Given the description of an element on the screen output the (x, y) to click on. 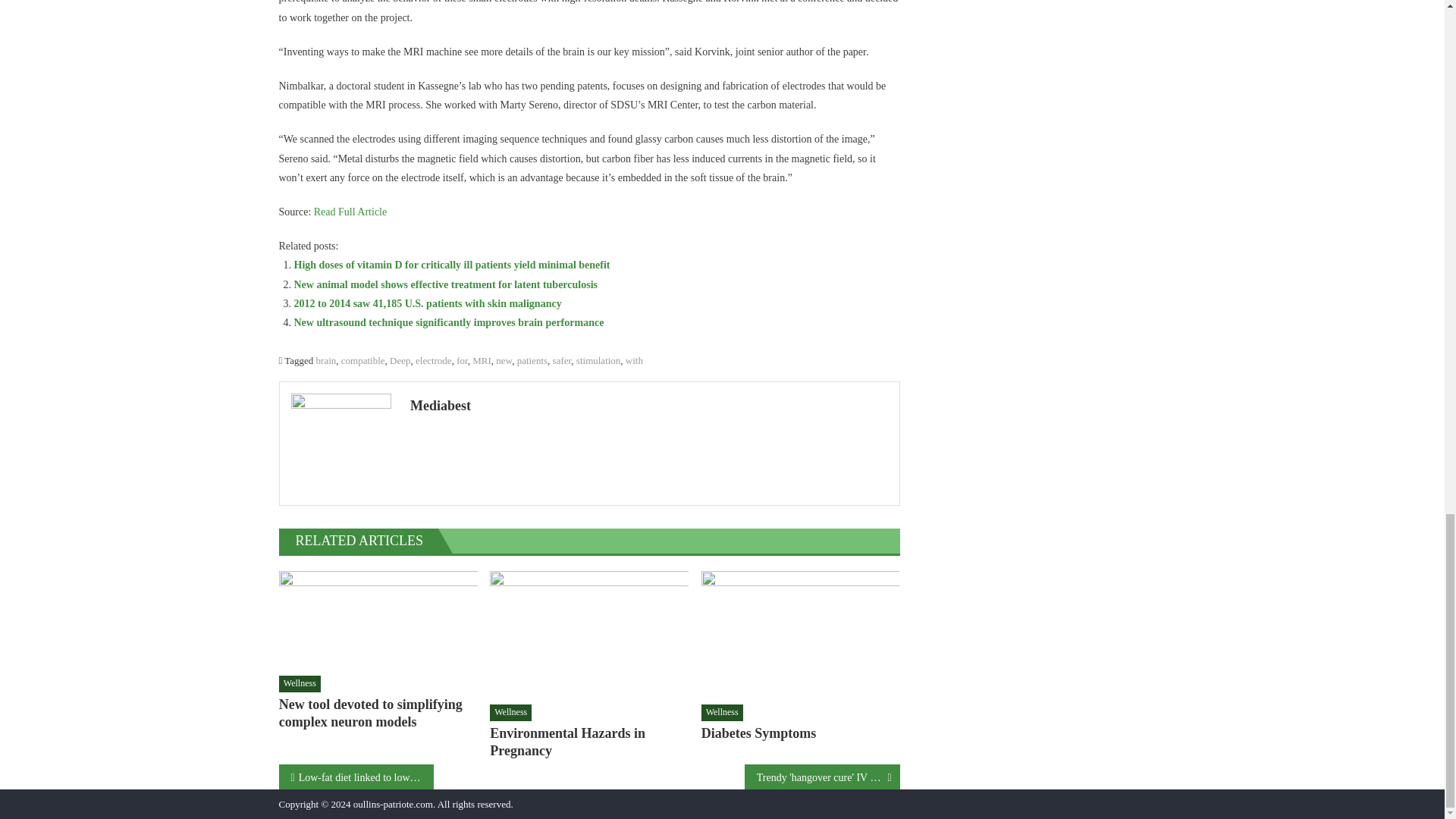
brain (325, 360)
stimulation (598, 360)
with (634, 360)
MRI (481, 360)
safer (562, 360)
New tool devoted to simplifying complex neuron models (378, 618)
Mediabest (649, 405)
Environmental Hazards in Pregnancy (588, 632)
new (504, 360)
Read Full Article (350, 211)
New tool devoted to simplifying complex neuron models (378, 714)
Wellness (299, 683)
Environmental Hazards in Pregnancy (588, 742)
